Given the description of an element on the screen output the (x, y) to click on. 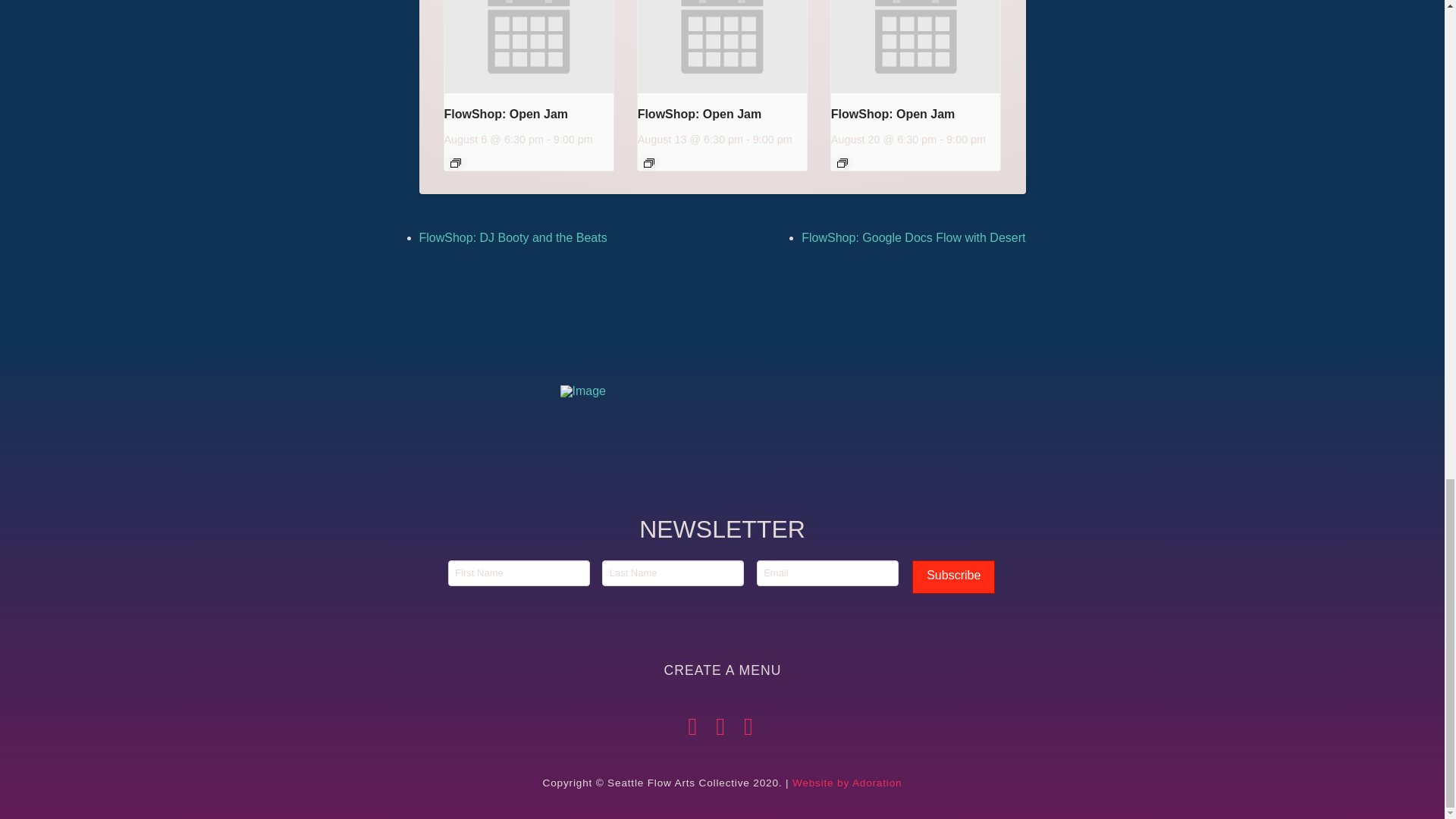
FlowShop: Open Jam (699, 113)
Event Series (455, 162)
FlowShop: Open Jam (506, 113)
FlowShop: Open Jam (893, 113)
Subscribe (953, 577)
Event Series (842, 162)
Event Series (648, 162)
